Given the description of an element on the screen output the (x, y) to click on. 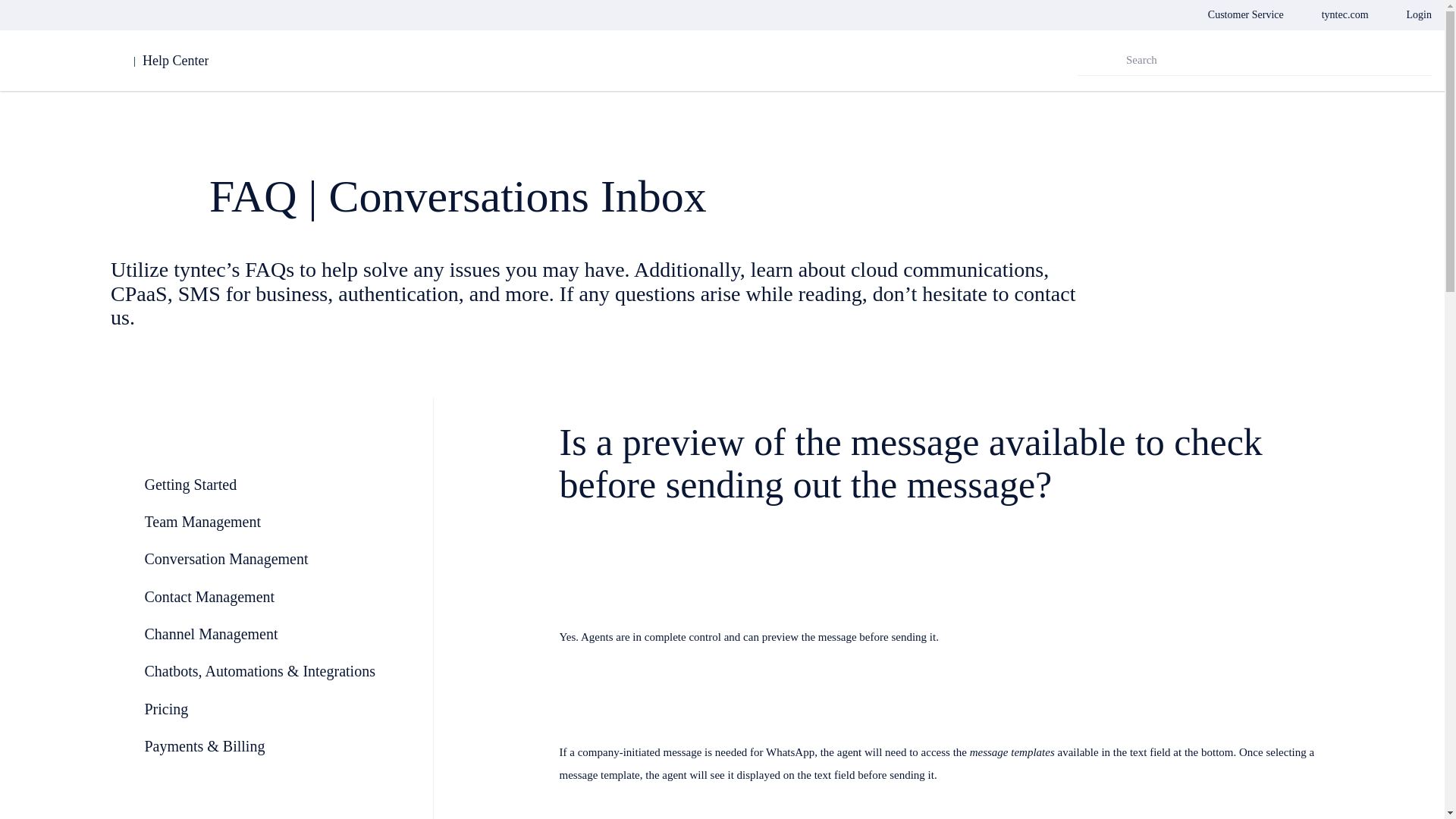
Login (1418, 15)
tyntec.com (1345, 15)
Customer Service (1246, 15)
